Given the description of an element on the screen output the (x, y) to click on. 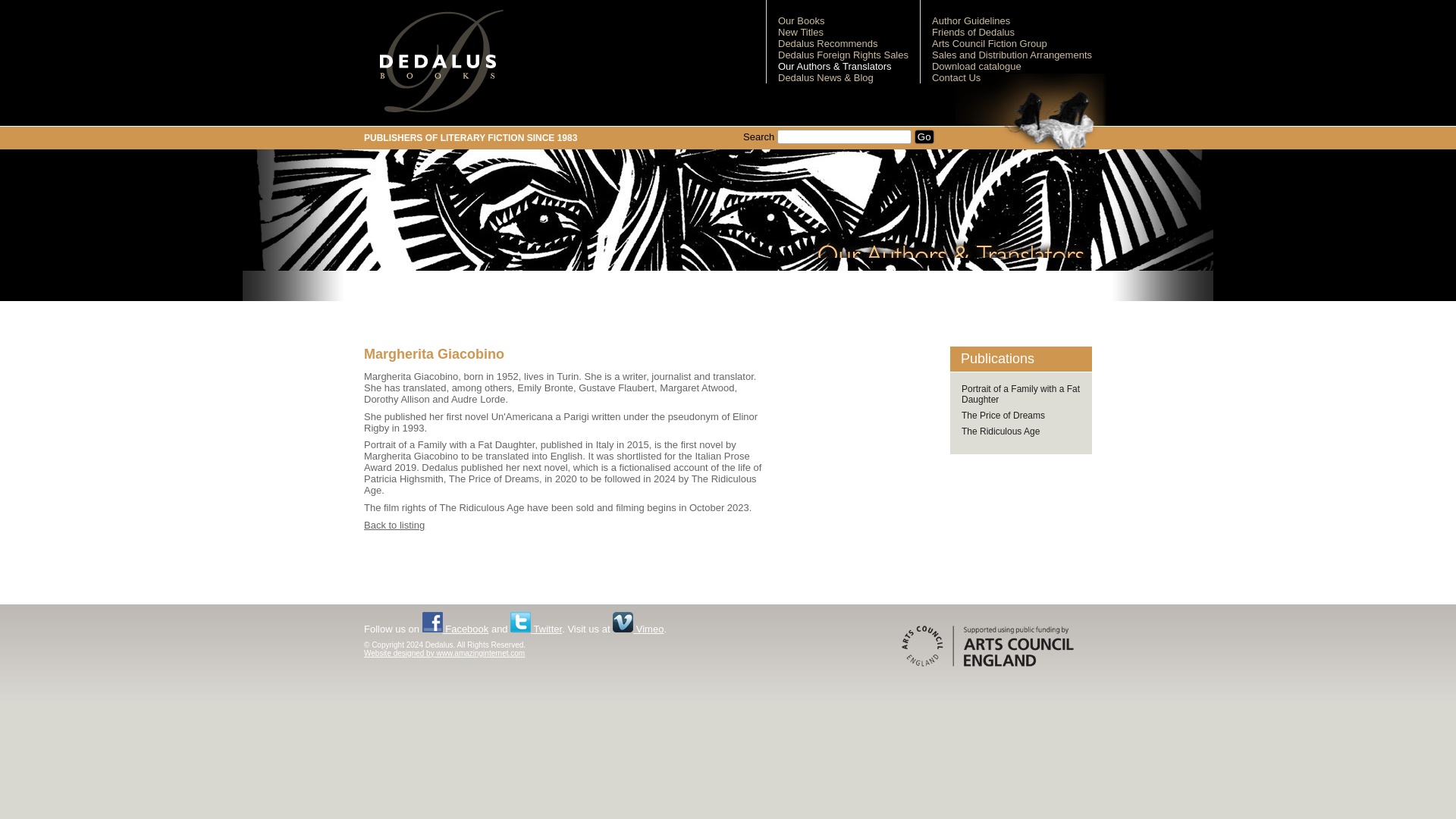
Contact Us (955, 77)
Facebook (455, 628)
Dedalus Foreign Rights Sales (842, 54)
The Ridiculous Age (999, 430)
Website designed by www.amazinginternet.com (444, 653)
Visit us on Facebook (455, 628)
Dedalus Books - part of Arts Council England (986, 645)
Download catalogue (976, 66)
View book details for: The Price of Dreams (1002, 415)
